Given the description of an element on the screen output the (x, y) to click on. 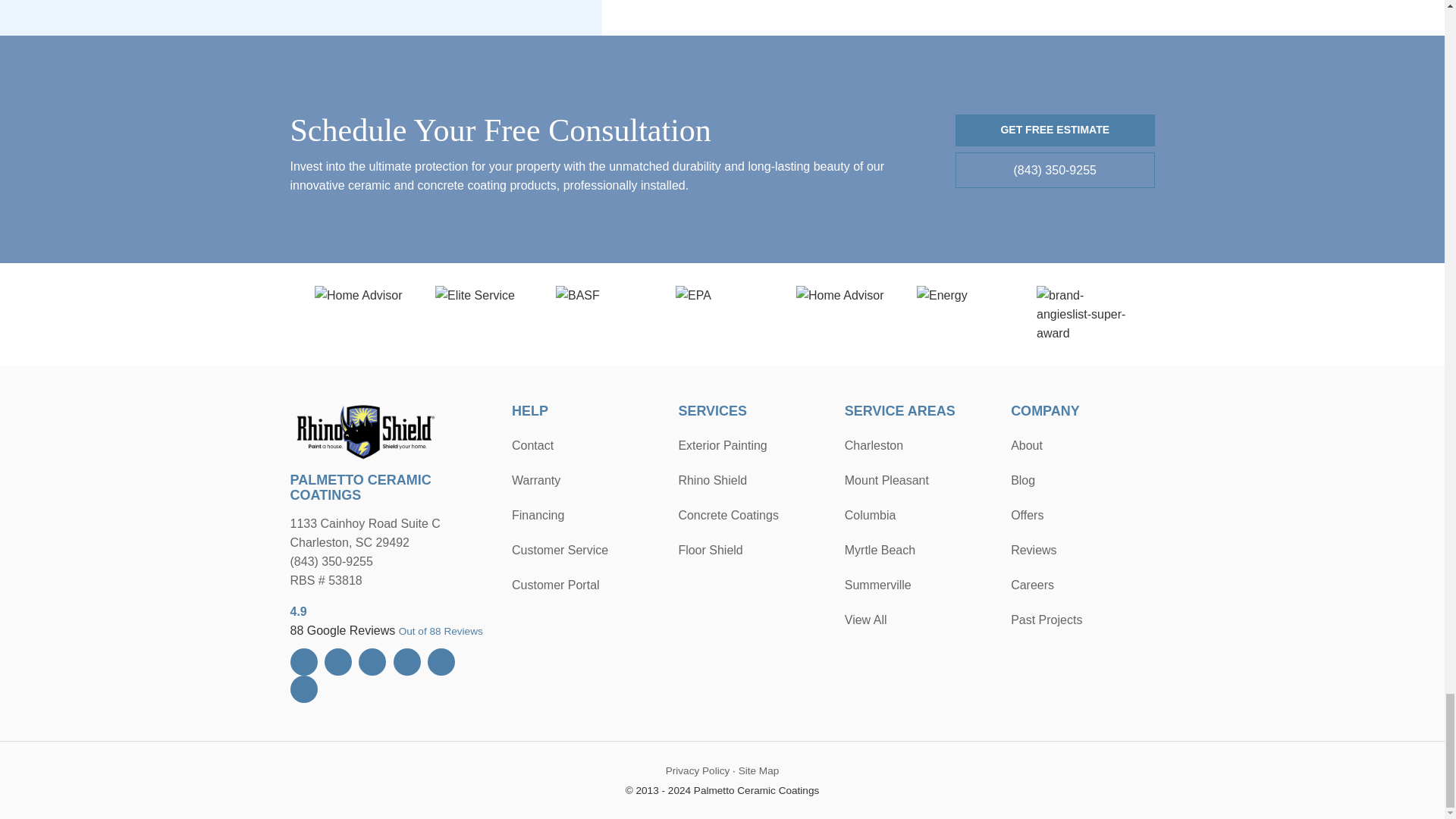
GET FREE ESTIMATE (1054, 130)
